Given the description of an element on the screen output the (x, y) to click on. 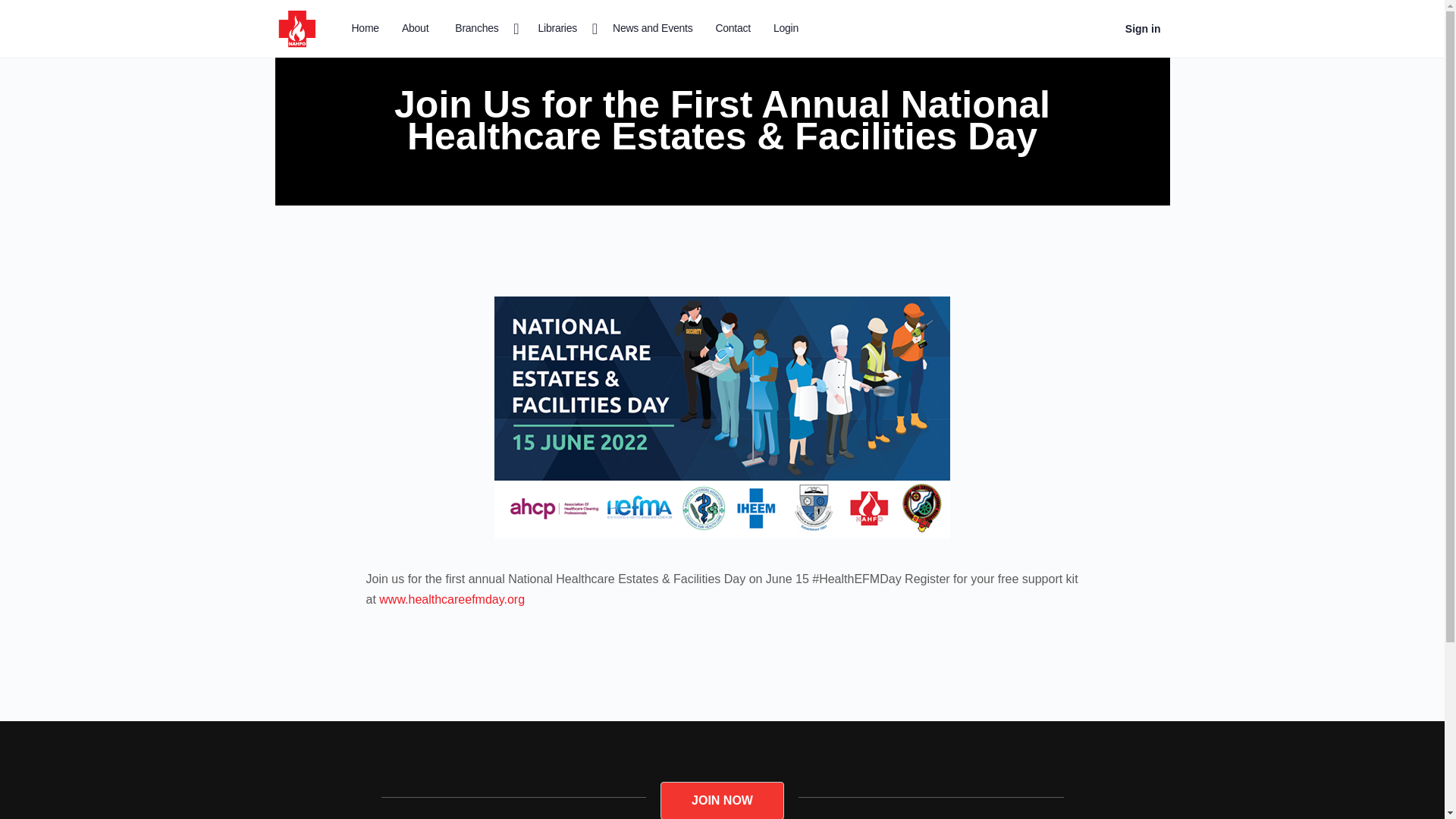
News and Events (652, 28)
Libraries (564, 28)
Contact (732, 28)
Home (365, 28)
About (414, 28)
Sign in (1143, 28)
Login (785, 28)
Branches (482, 28)
image001 (722, 417)
